Given the description of an element on the screen output the (x, y) to click on. 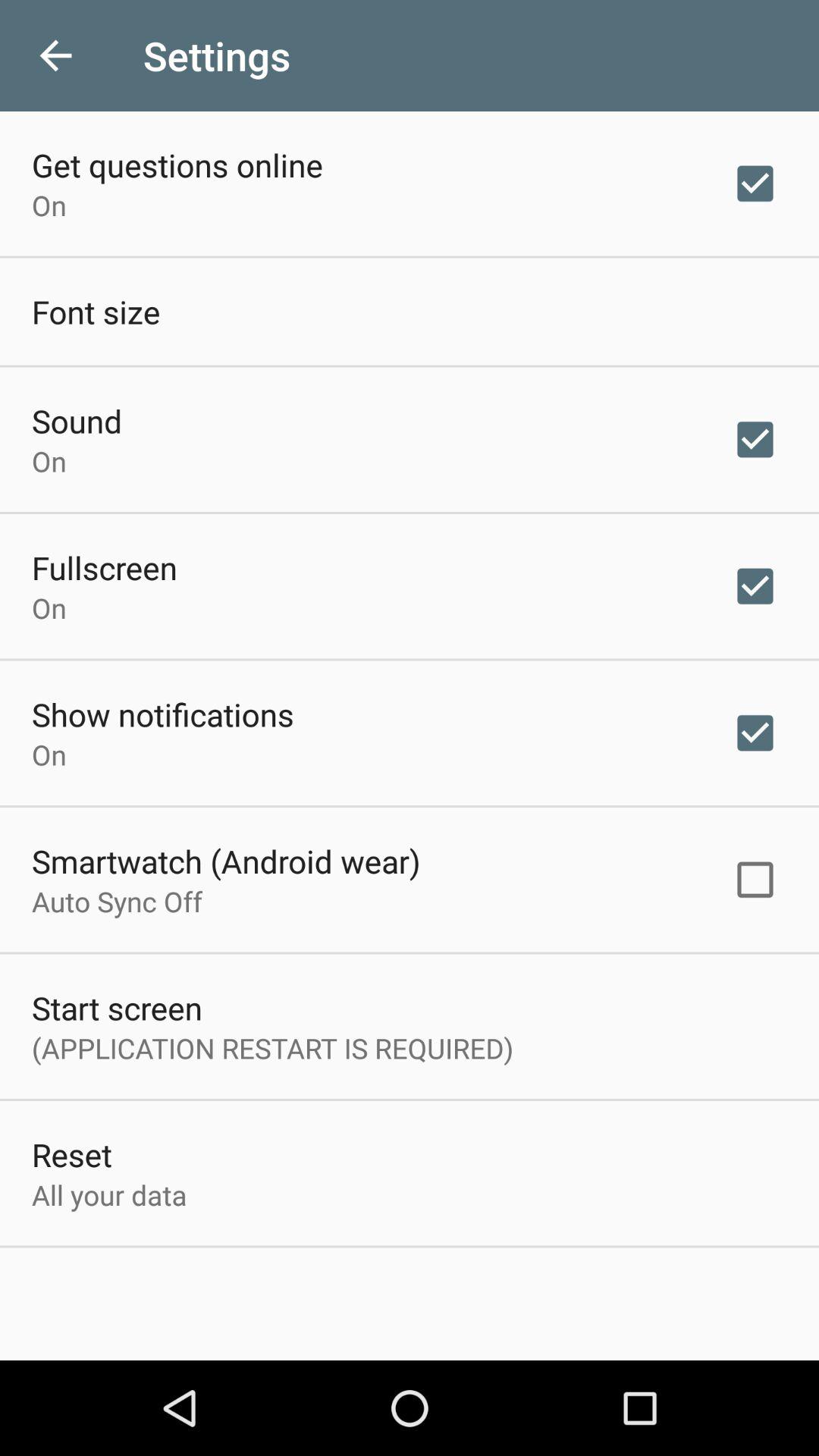
scroll until application restart is icon (272, 1047)
